Given the description of an element on the screen output the (x, y) to click on. 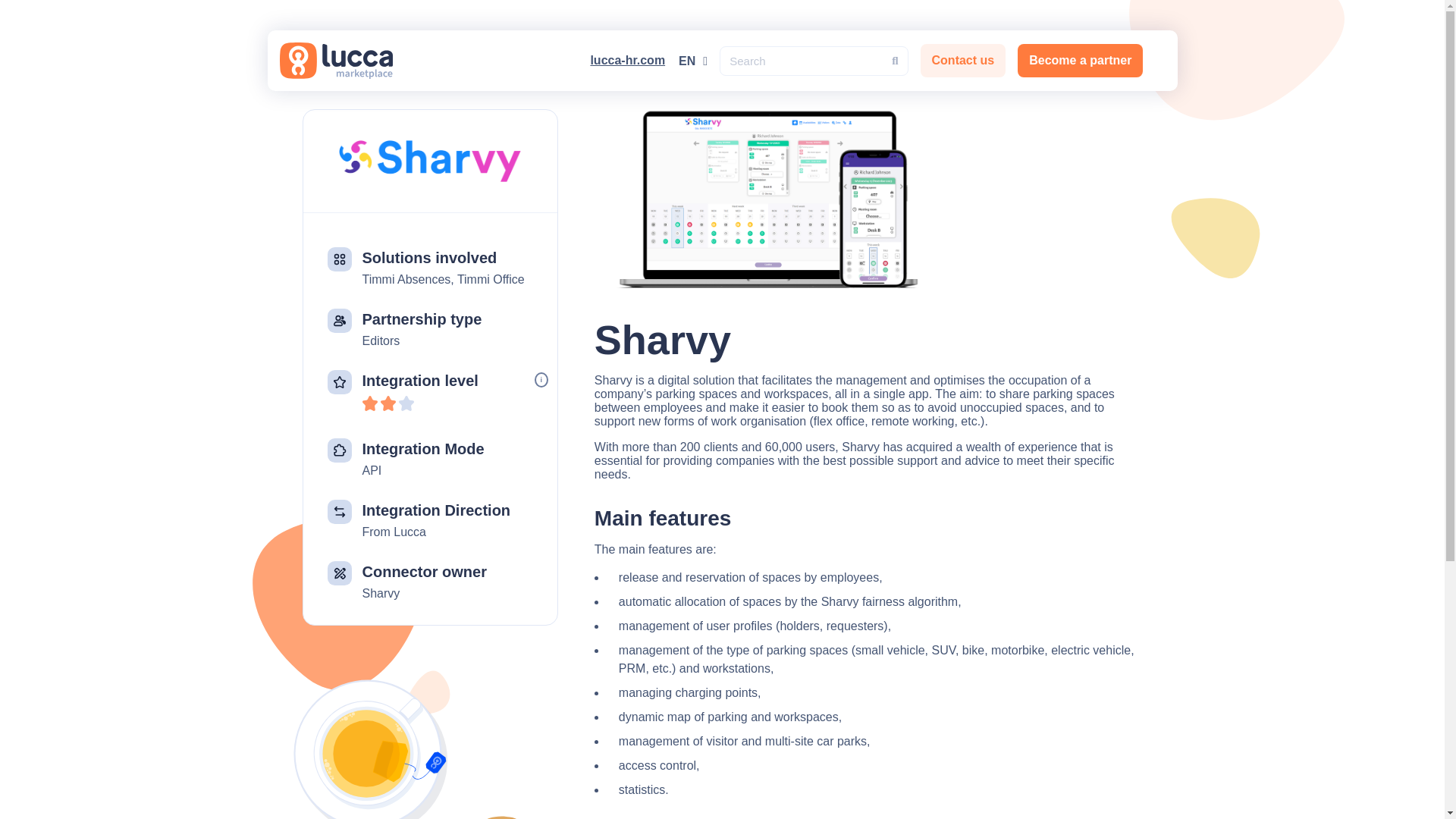
Contact us (963, 60)
logo-marketplace (336, 60)
EN (689, 60)
lucca-hr.com (627, 60)
Become a partner (1079, 60)
